Given the description of an element on the screen output the (x, y) to click on. 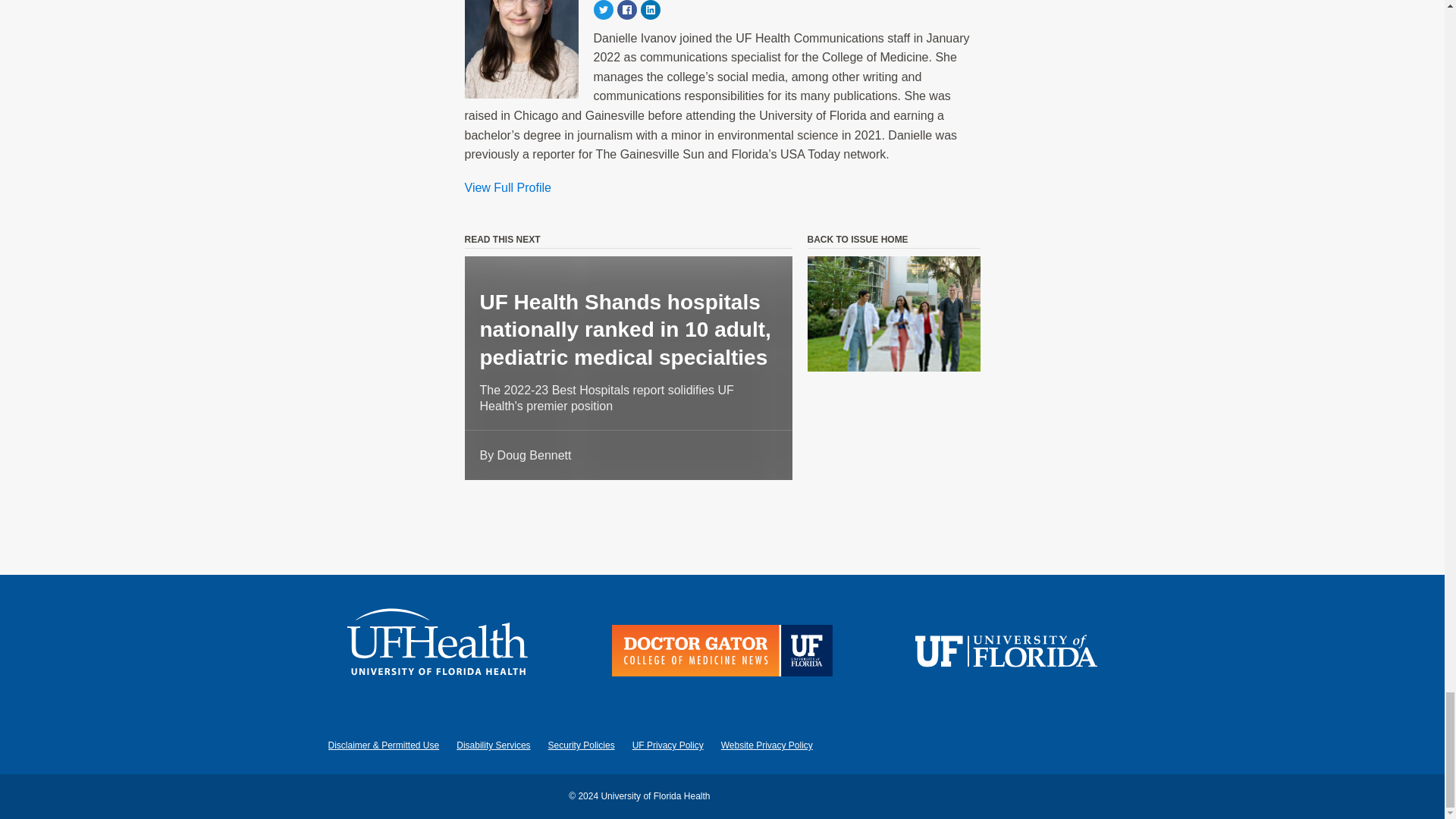
View Full Profile (507, 188)
UF Privacy Policy (667, 745)
Disability Services (493, 745)
Website Privacy Policy (766, 745)
UF Health Logo (437, 653)
University of Florida (1005, 653)
University of Florida Logo (1005, 653)
UF Health (437, 653)
Security Policies (581, 745)
Publication Logo (721, 653)
